Given the description of an element on the screen output the (x, y) to click on. 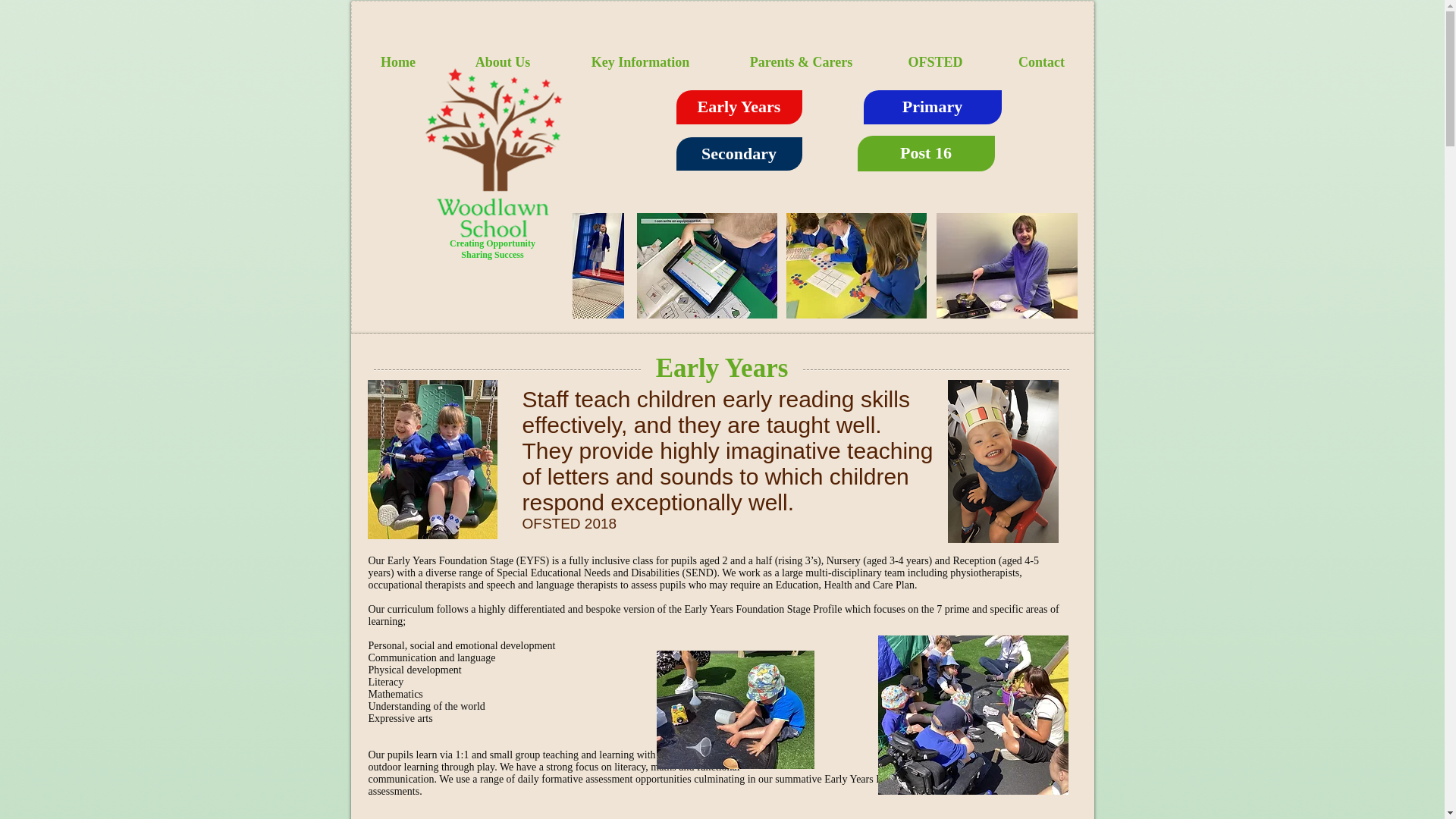
Key Information (639, 62)
OFSTED (934, 62)
EYFS3.jpg (734, 709)
Primary (932, 107)
EYFS2.jpg (972, 714)
Post 16 (925, 153)
Home (397, 62)
About Us (502, 62)
Early Years (739, 107)
front cover 4.jpg (856, 265)
